Given the description of an element on the screen output the (x, y) to click on. 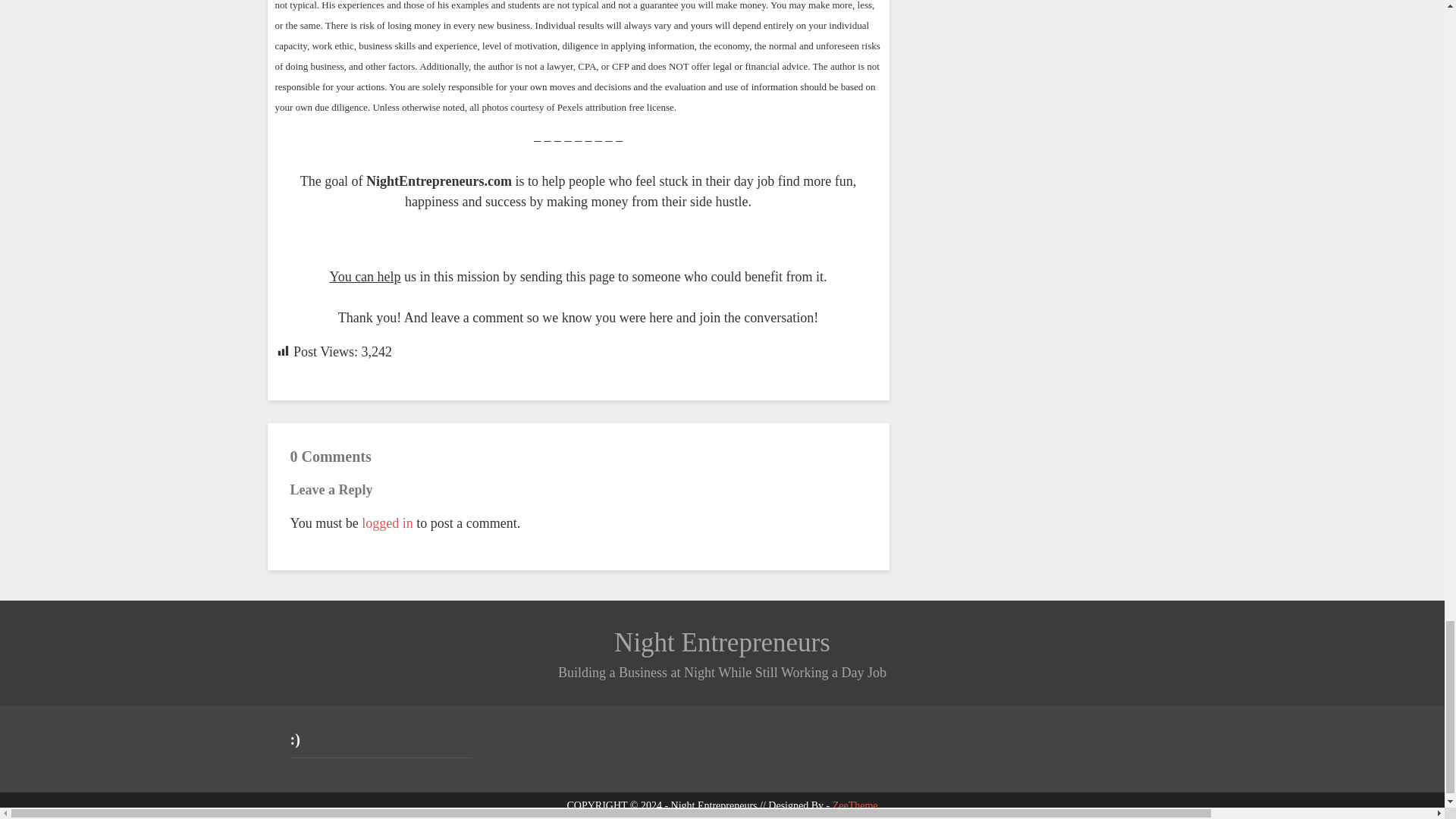
ZeeTheme (854, 805)
Night Entrepreneurs (721, 642)
logged in (387, 522)
